Given the description of an element on the screen output the (x, y) to click on. 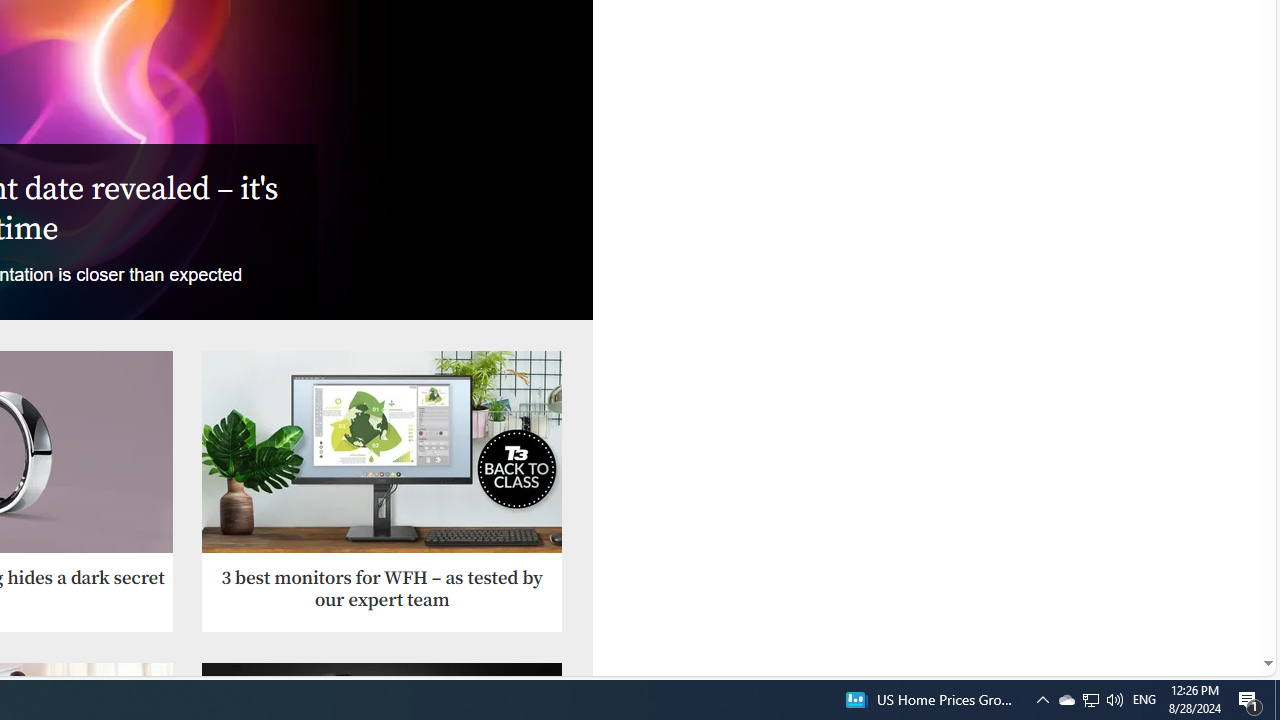
AOC U27P2CA (382, 452)
